Given the description of an element on the screen output the (x, y) to click on. 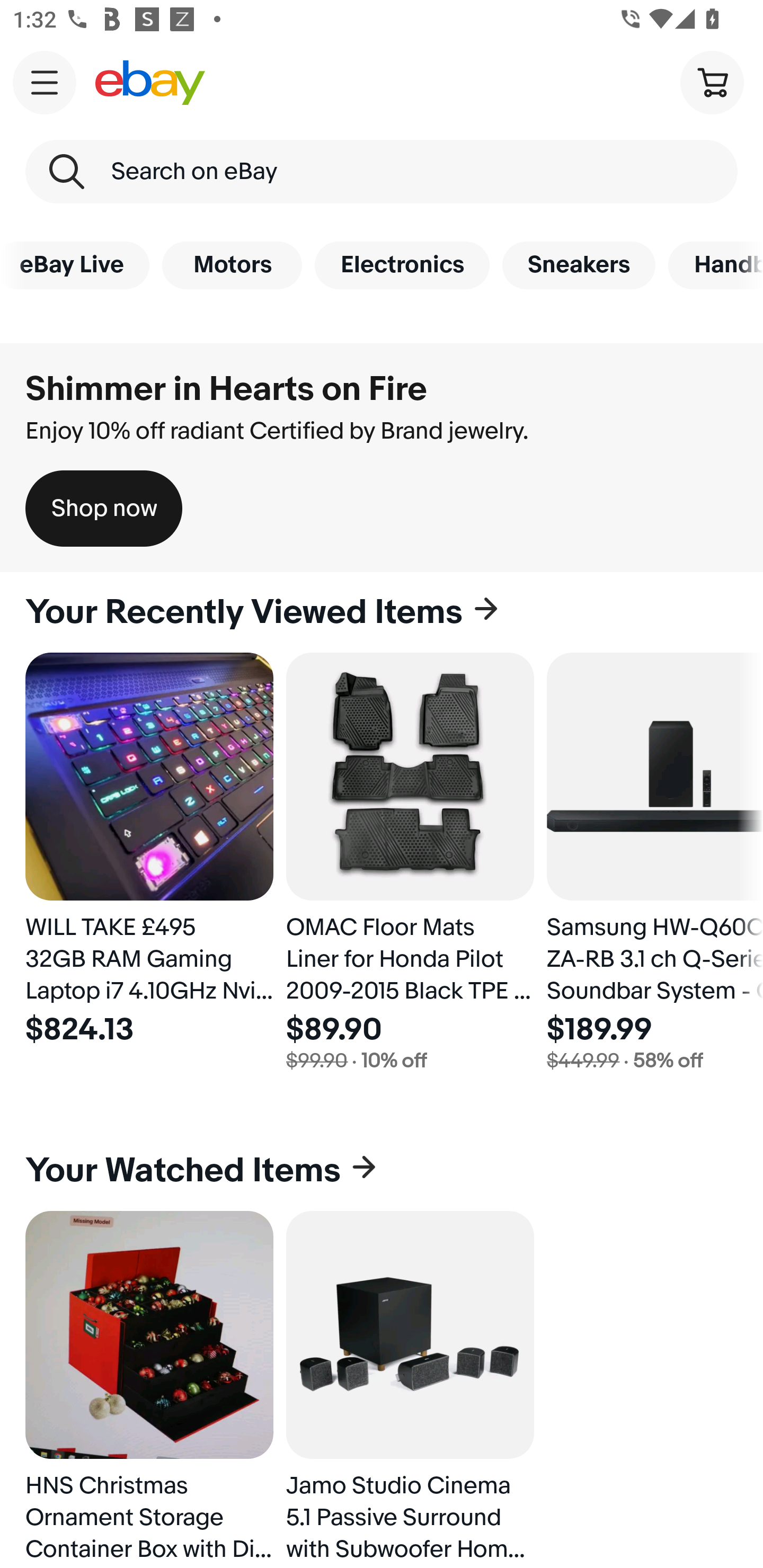
Main navigation, open (44, 82)
Cart button shopping cart (711, 81)
Search on eBay Search Keyword Search on eBay (381, 171)
eBay Live (74, 264)
Motors (231, 264)
Electronics (401, 264)
Sneakers (578, 264)
Shimmer in Hearts on Fire (226, 389)
Shop now (103, 508)
Your Recently Viewed Items   (381, 612)
Your Watched Items   (381, 1170)
